Given the description of an element on the screen output the (x, y) to click on. 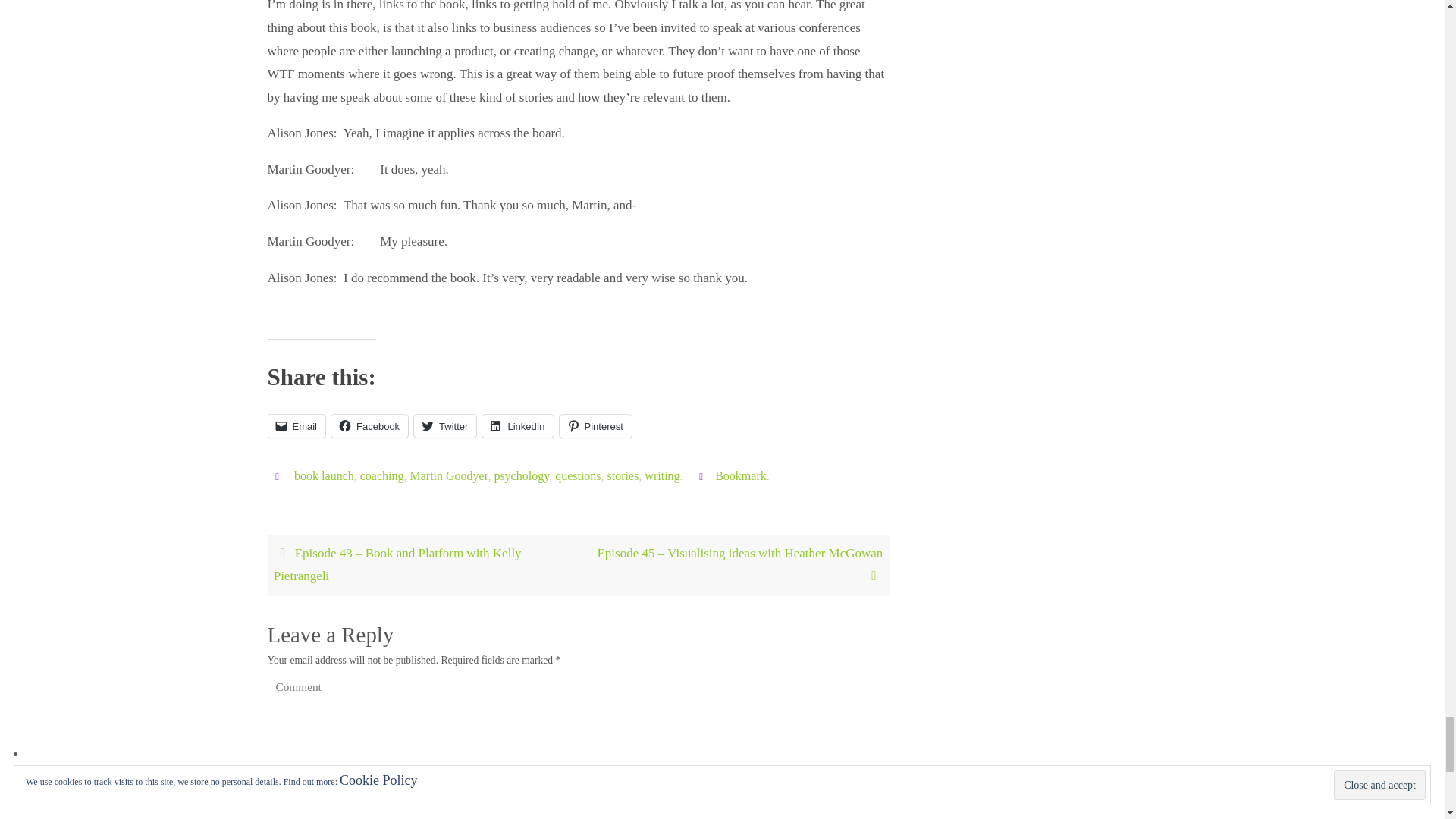
Click to share on Facebook (369, 425)
writing (662, 476)
stories (623, 476)
psychology (520, 476)
LinkedIn (517, 425)
coaching (381, 476)
Click to share on Twitter (444, 425)
Facebook (369, 425)
Bookmark (740, 476)
Twitter (444, 425)
Pinterest (595, 425)
Email (295, 425)
questions (576, 476)
Click to email a link to a friend (295, 425)
book launch (323, 476)
